Given the description of an element on the screen output the (x, y) to click on. 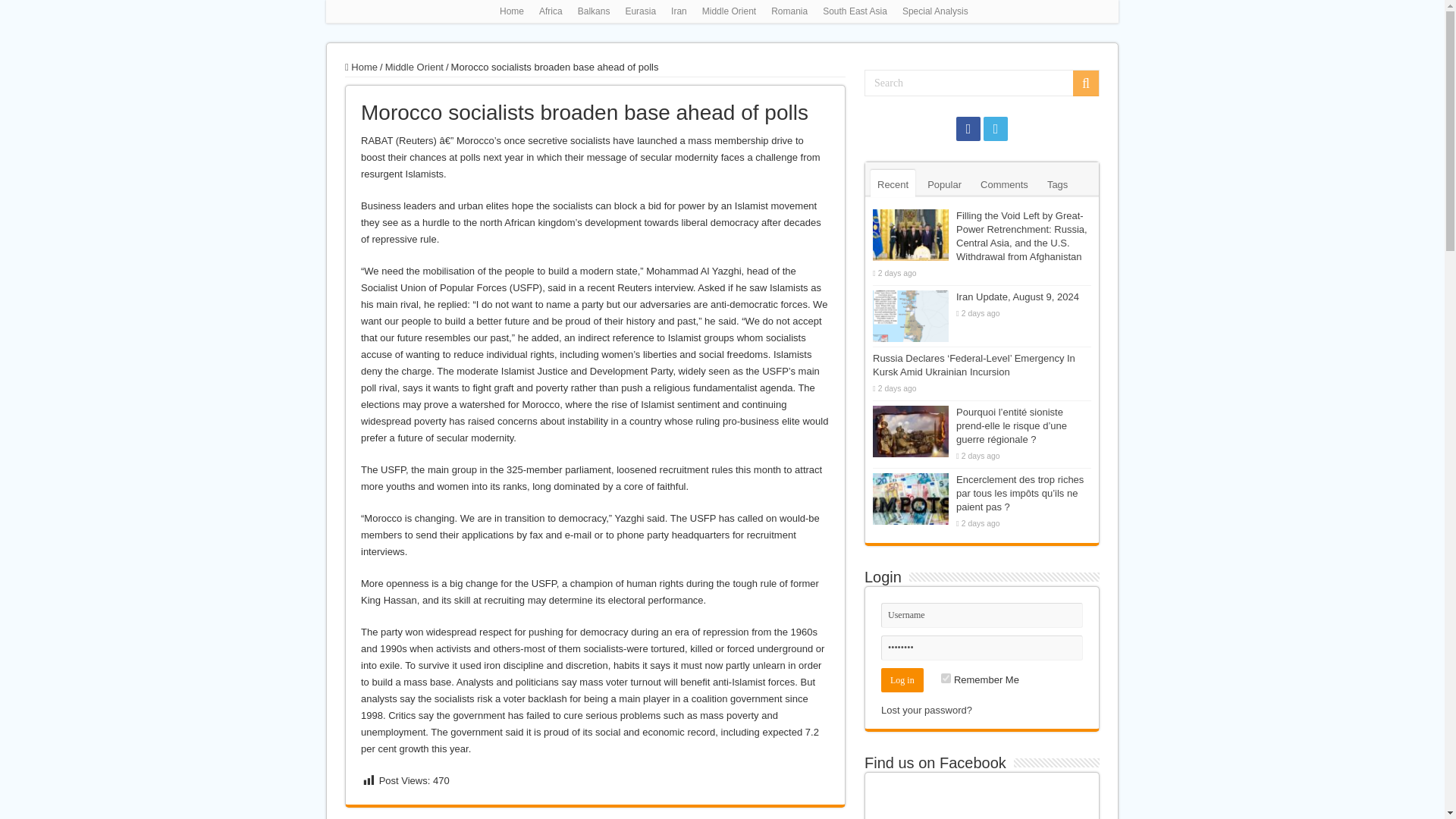
Balkans (593, 11)
Twitter (995, 128)
Username (981, 615)
Search (1086, 83)
Eurasia (640, 11)
Tags (1057, 183)
Password (981, 647)
Comments (1004, 183)
Home (361, 66)
Iran Update, August 9, 2024 (1017, 296)
